Given the description of an element on the screen output the (x, y) to click on. 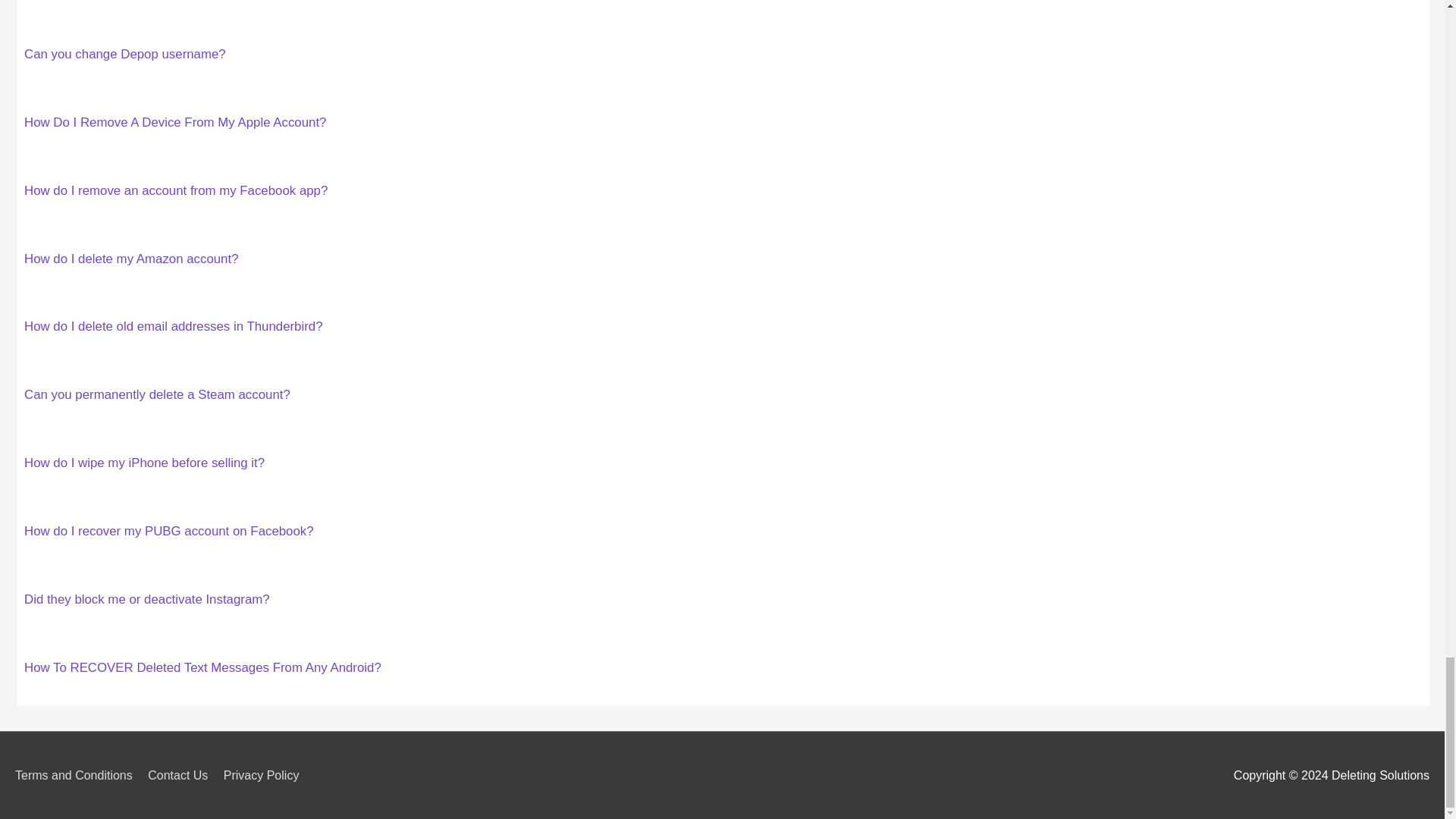
How do I delete my Amazon account? (131, 258)
Privacy Policy (267, 775)
Can you permanently delete a Steam account? (156, 394)
How do I recover my PUBG account on Facebook? (169, 531)
How do I remove an account from my Facebook app? (175, 190)
Can you change Depop username? (124, 53)
How do I delete old email addresses in Thunderbird? (173, 326)
Terms and Conditions (79, 775)
How To RECOVER Deleted Text Messages From Any Android? (202, 667)
Did they block me or deactivate Instagram? (146, 599)
